Given the description of an element on the screen output the (x, y) to click on. 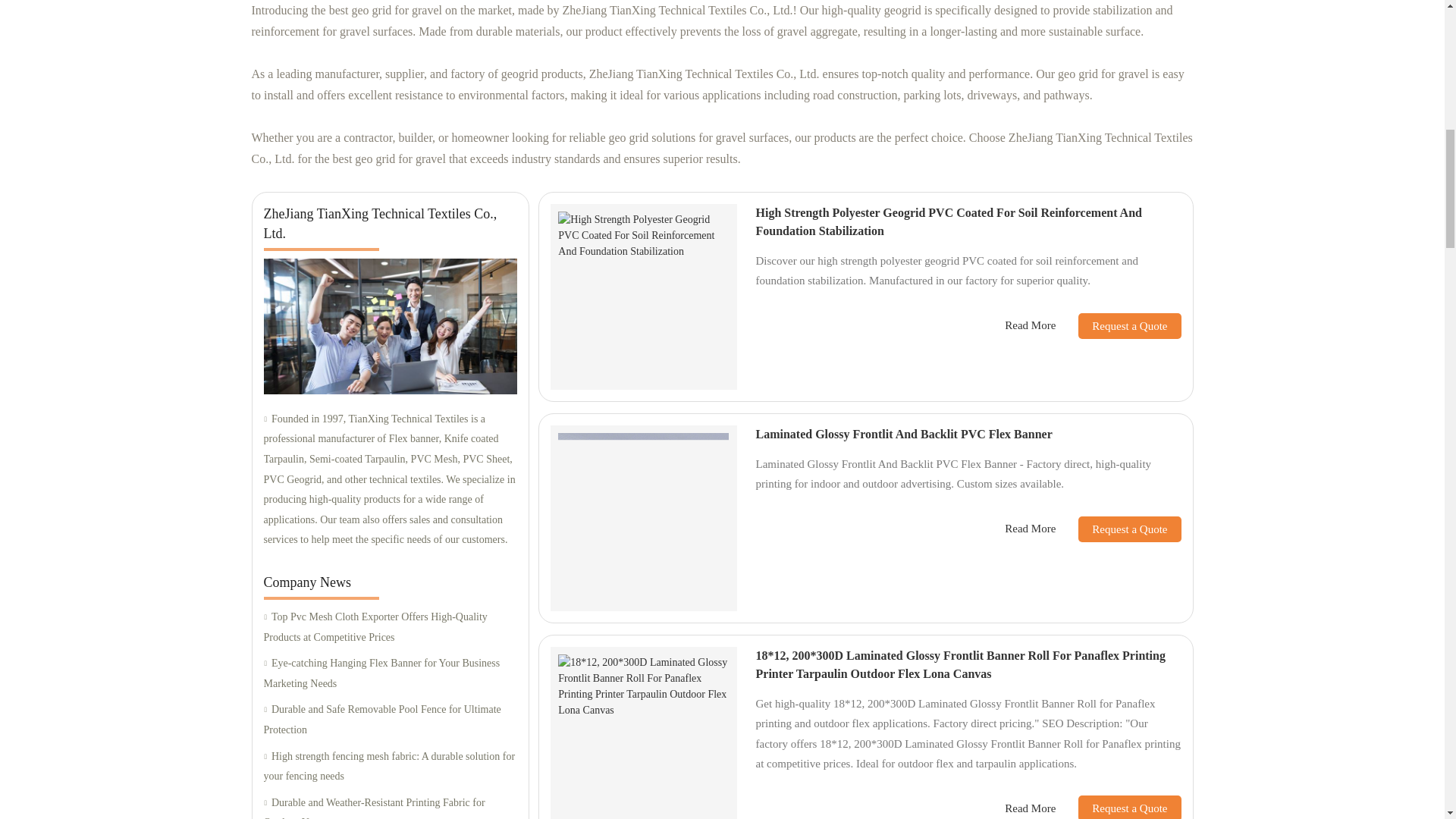
Read More (1029, 325)
Read More (1029, 528)
Laminated Glossy Frontlit And Backlit PVC Flex Banner (903, 433)
Request a Quote (1117, 325)
Request a Quote (1117, 807)
Request a Quote (1117, 529)
Read More (1029, 808)
